Given the description of an element on the screen output the (x, y) to click on. 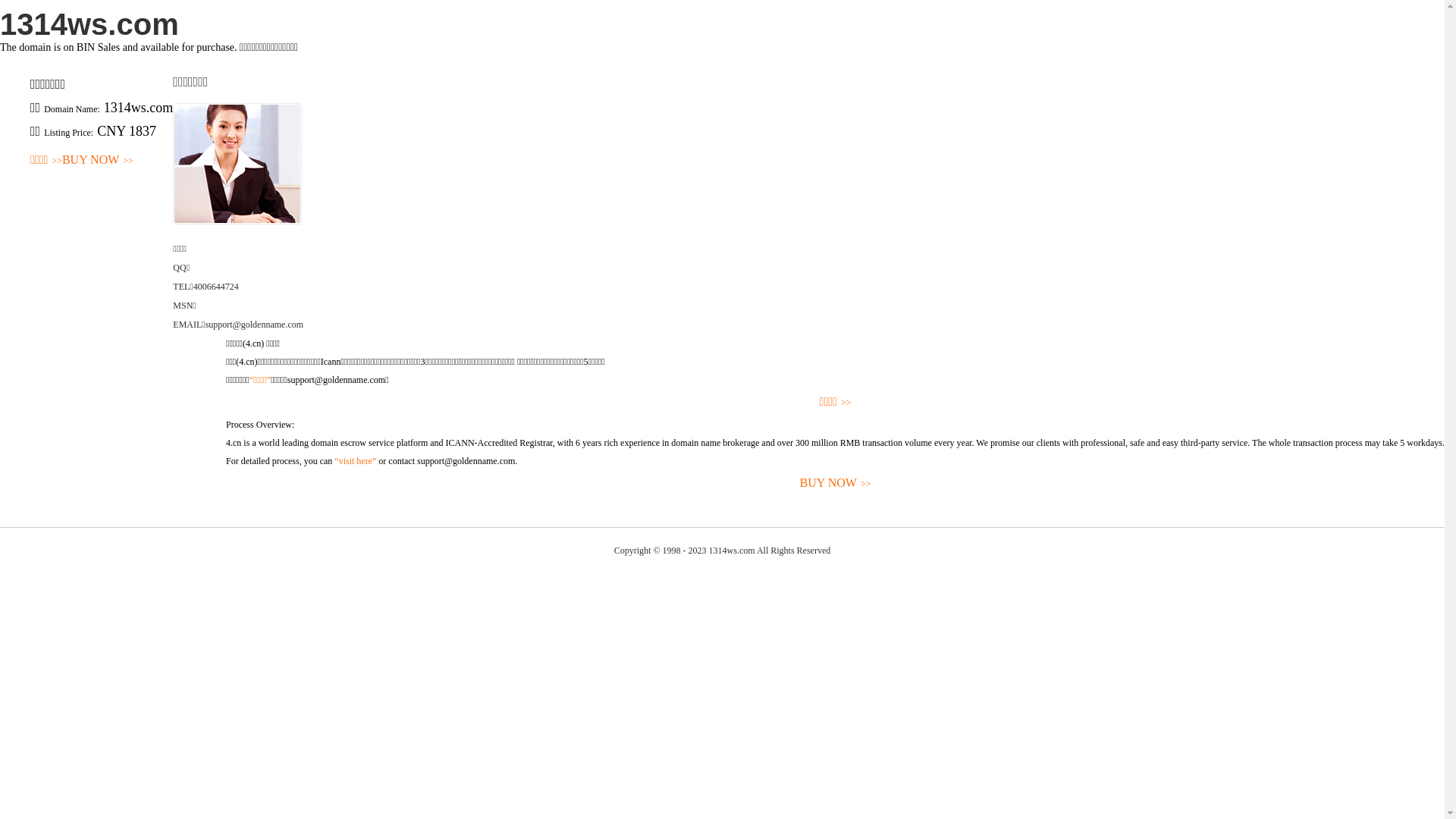
BUY NOW>> Element type: text (834, 483)
BUY NOW>> Element type: text (97, 160)
